Given the description of an element on the screen output the (x, y) to click on. 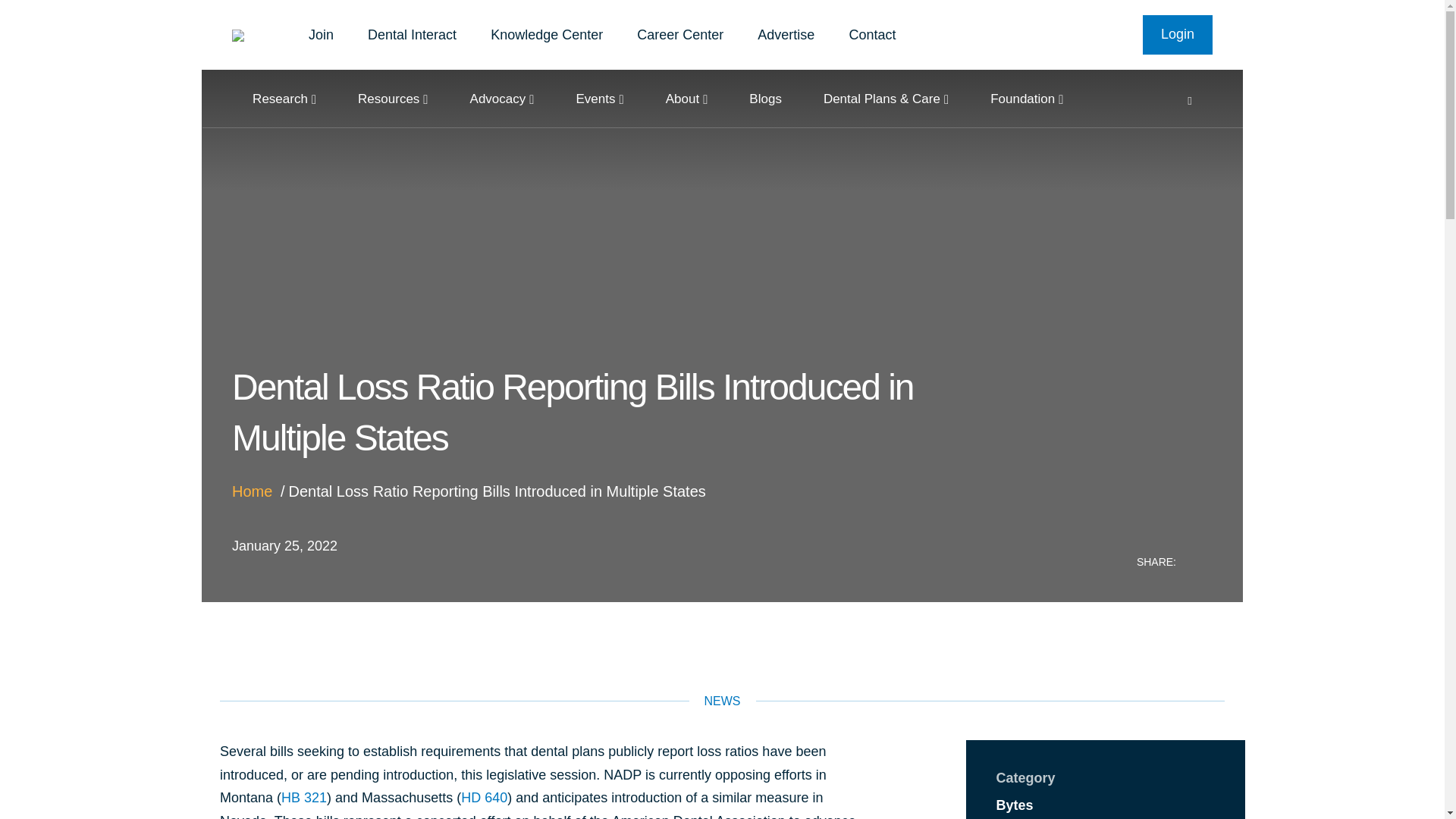
Login (1177, 34)
